Given the description of an element on the screen output the (x, y) to click on. 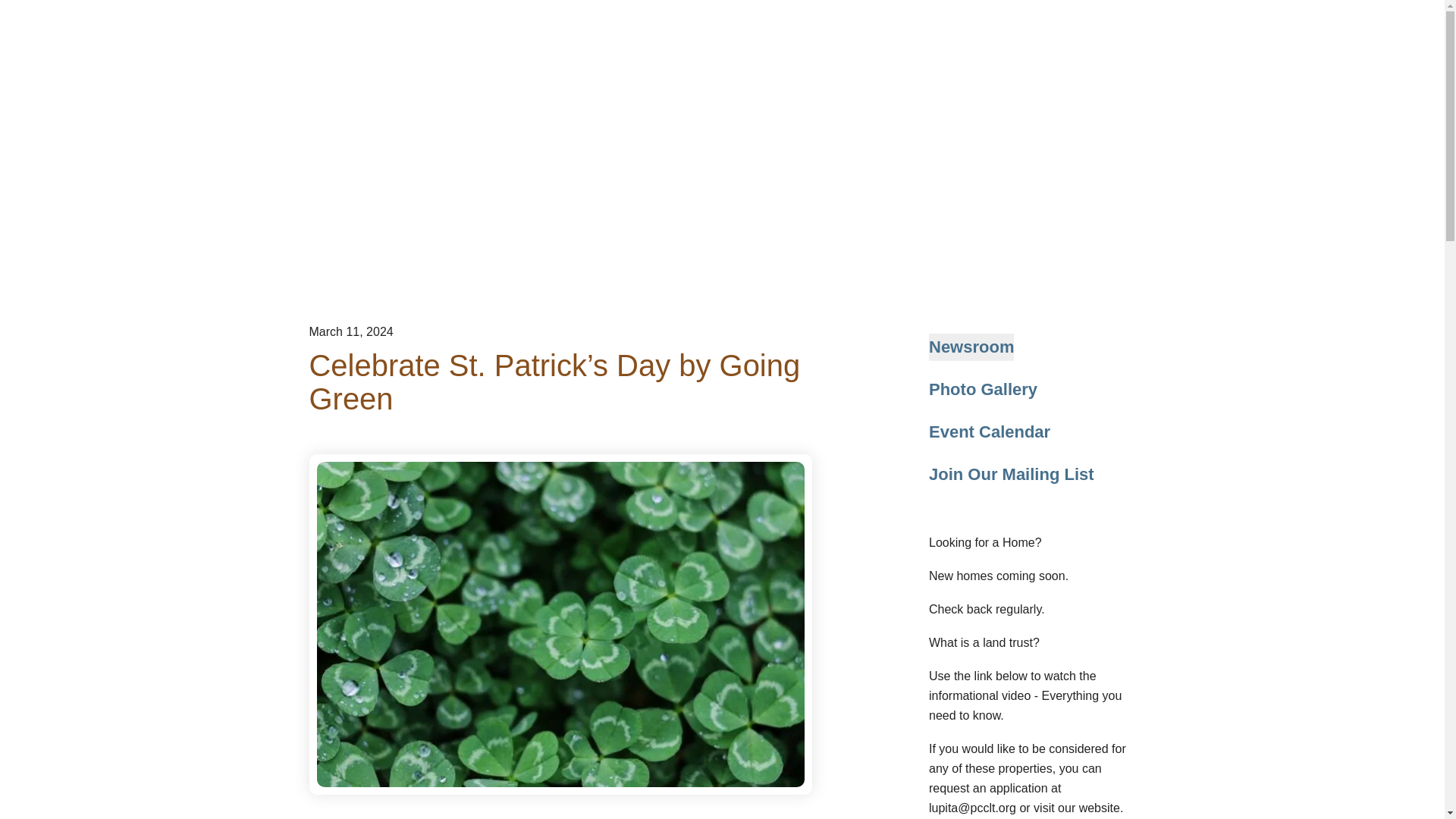
Event Calendar (988, 431)
Photo Gallery (982, 389)
Newsroom (970, 347)
Join Our Mailing List (1011, 474)
